Given the description of an element on the screen output the (x, y) to click on. 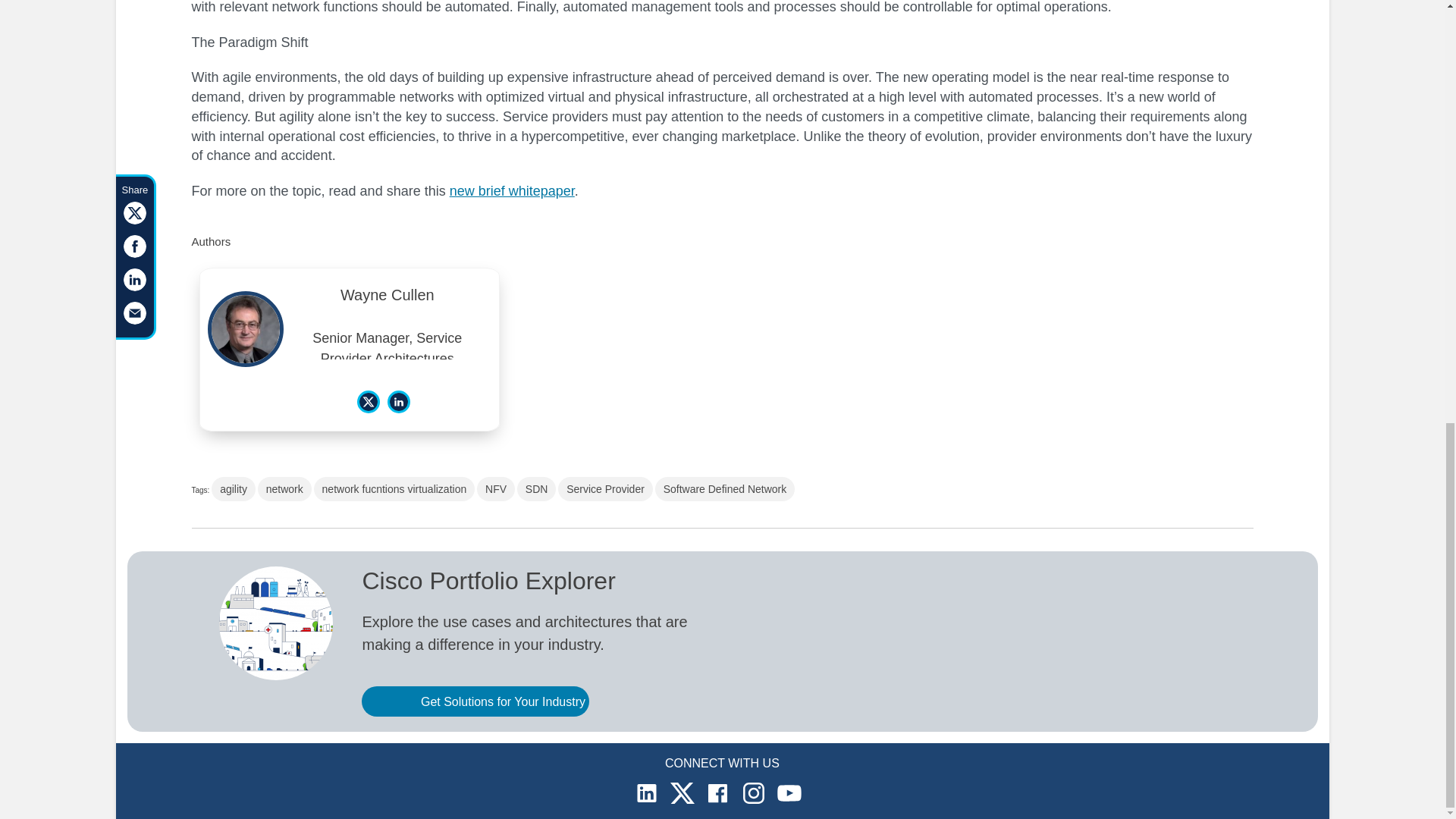
Software Defined Network (724, 488)
new brief whitepaper (512, 191)
SDN (536, 488)
network fucntions virtualization (395, 488)
NFV (496, 488)
agility (233, 488)
network (284, 488)
Wayne Cullen (387, 298)
Service Provider (604, 488)
Get Solutions for Your Industry (475, 701)
